Given the description of an element on the screen output the (x, y) to click on. 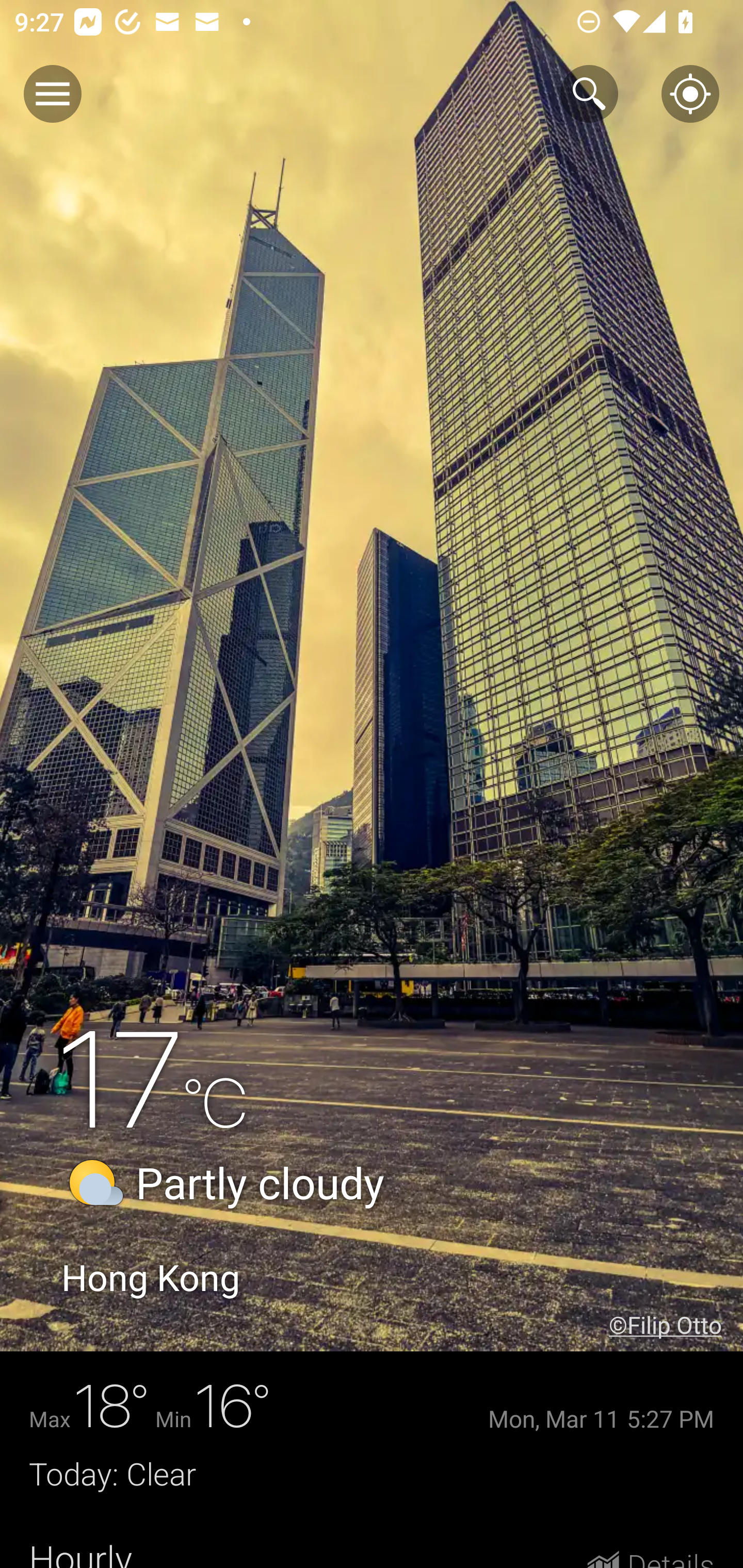
©Filip Otto (675, 1324)
